Given the description of an element on the screen output the (x, y) to click on. 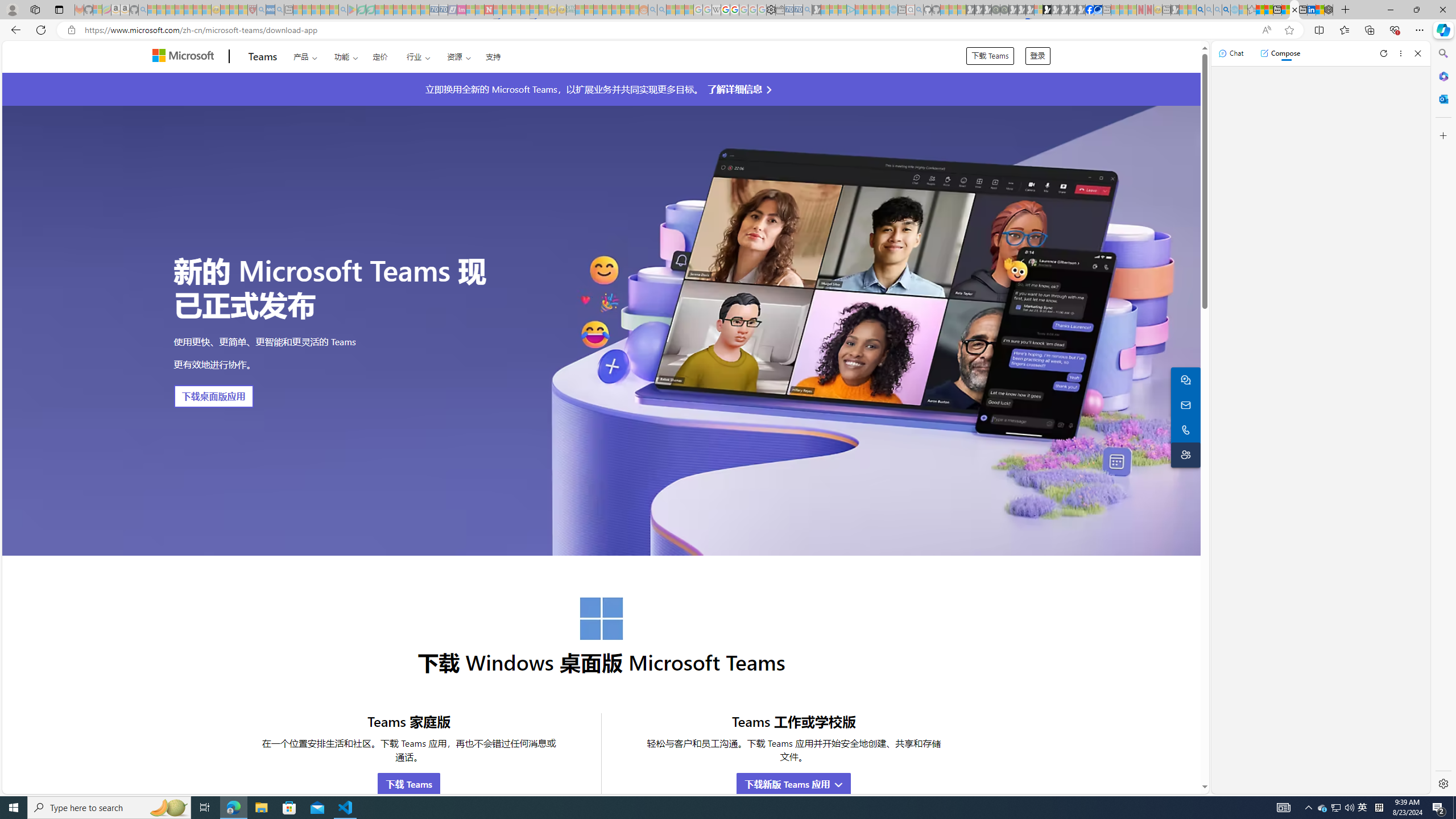
AQI & Health | AirNow.gov (1098, 9)
MSNBC - MSN - Sleeping (579, 9)
Future Focus Report 2024 - Sleeping (1004, 9)
